Given the description of an element on the screen output the (x, y) to click on. 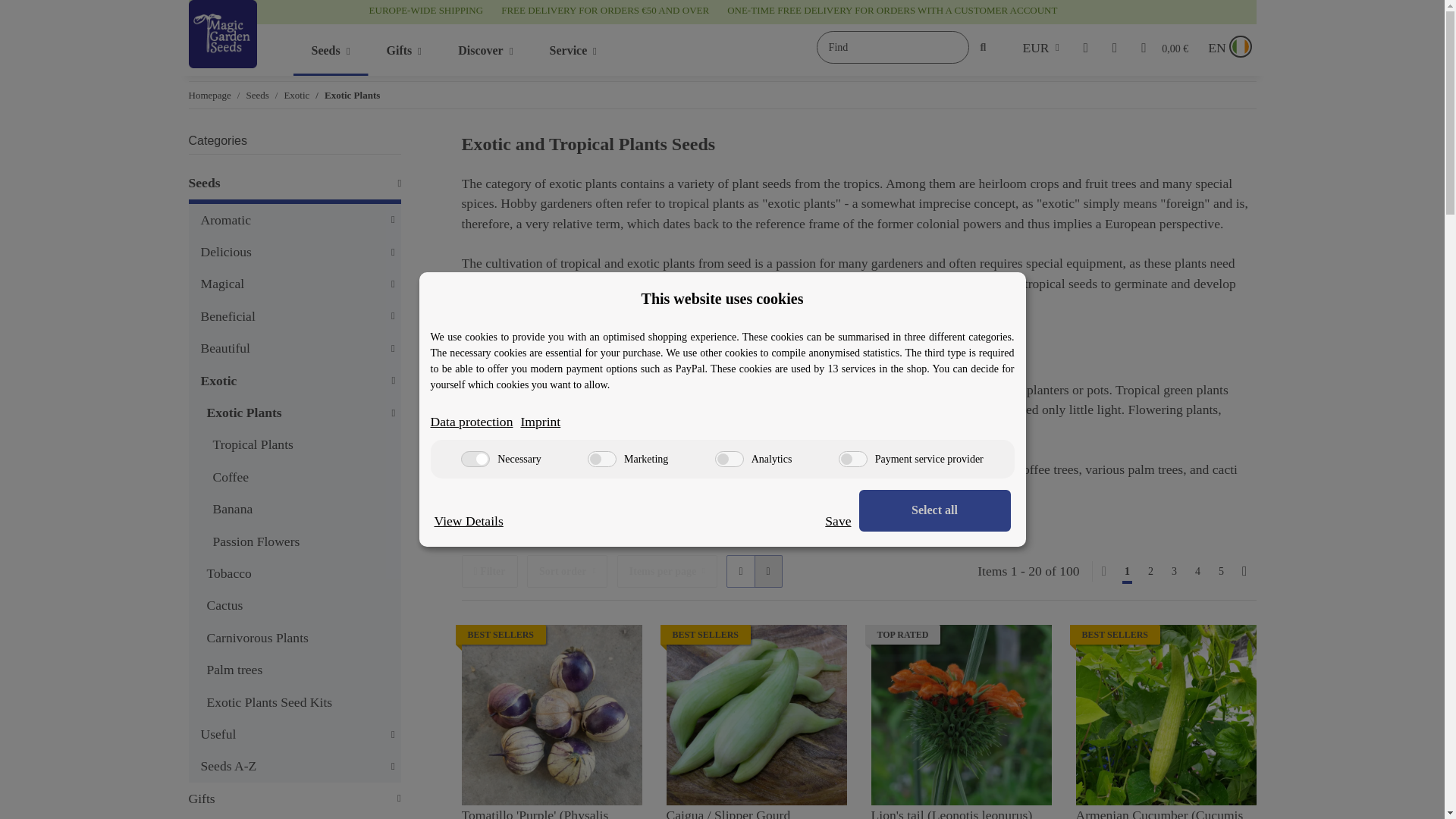
List (740, 571)
Homepage (208, 95)
Discover (547, 49)
Gifts (485, 50)
Seeds (404, 50)
Seeds (330, 50)
Discover (256, 95)
on (485, 50)
EUR (475, 458)
Service (1040, 47)
Gallery (573, 50)
Seeds (768, 571)
on (330, 50)
Service (852, 458)
